Given the description of an element on the screen output the (x, y) to click on. 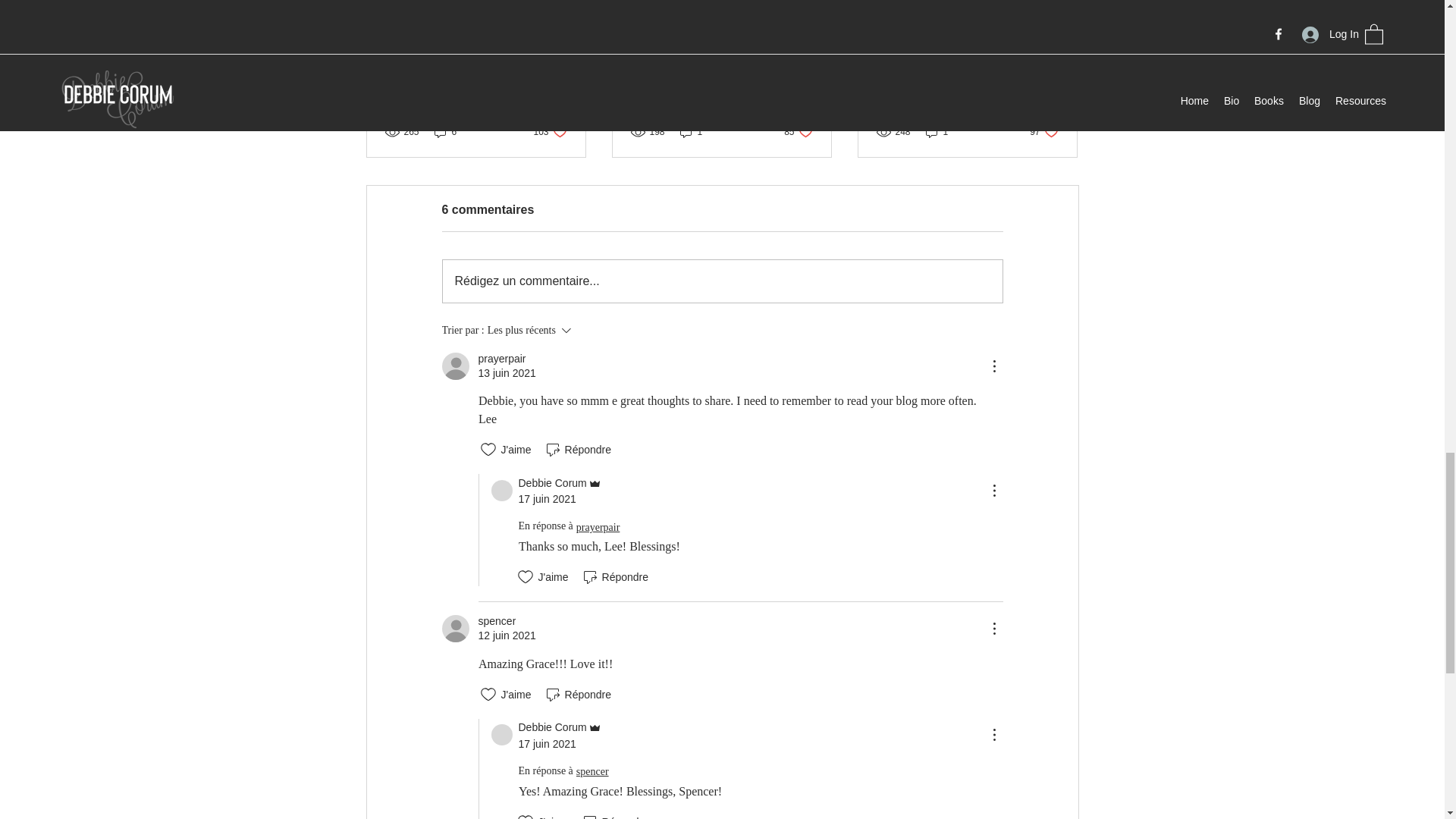
Debbie Corum (549, 131)
Time Waits for No Man (502, 490)
6 (721, 70)
1 (798, 131)
Debbie Corum (445, 131)
Esteemed Him Not (691, 131)
